Given the description of an element on the screen output the (x, y) to click on. 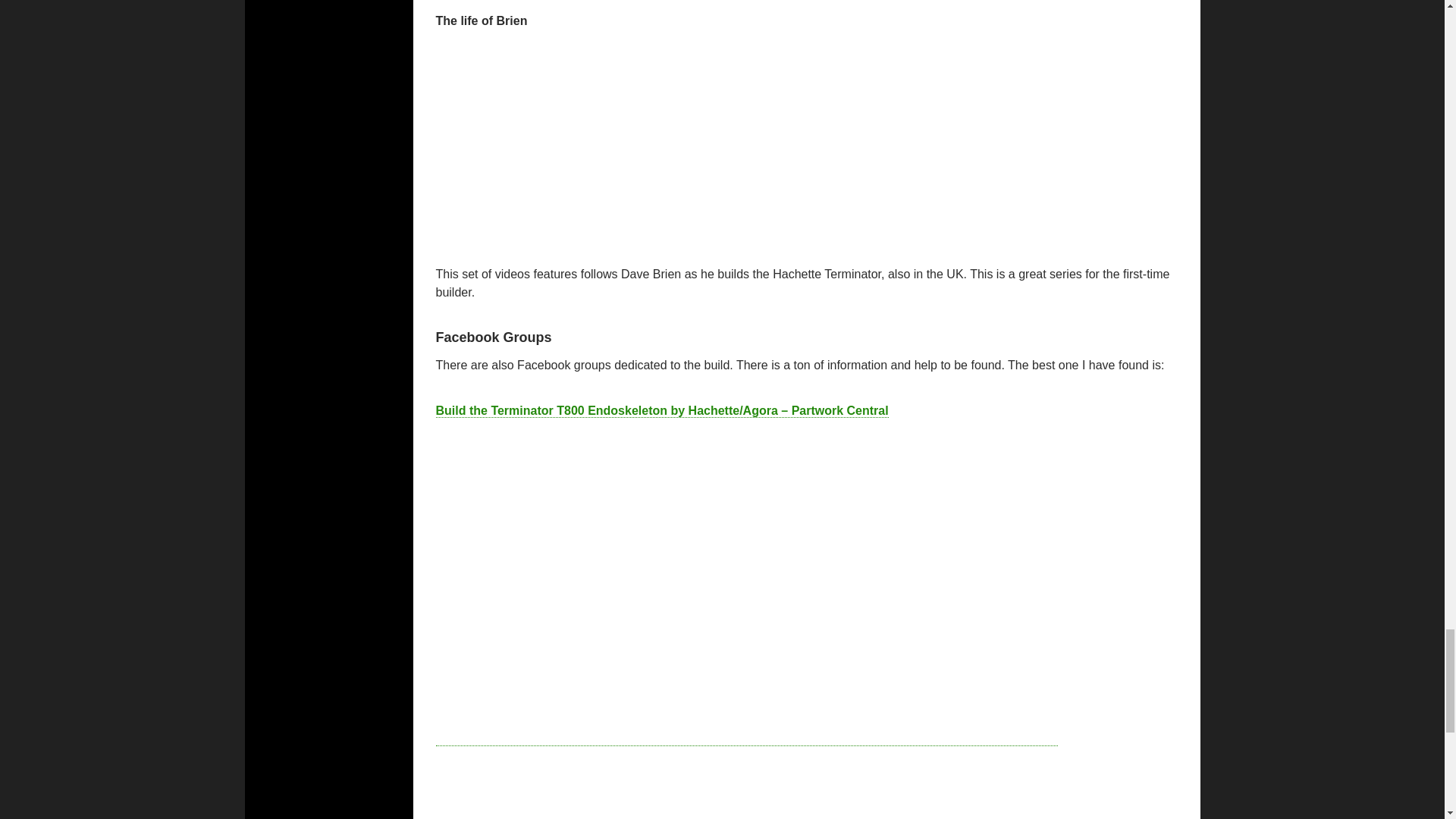
Build the Terminator - issue 1 - The LED Eyes and Sockets (614, 140)
